Given the description of an element on the screen output the (x, y) to click on. 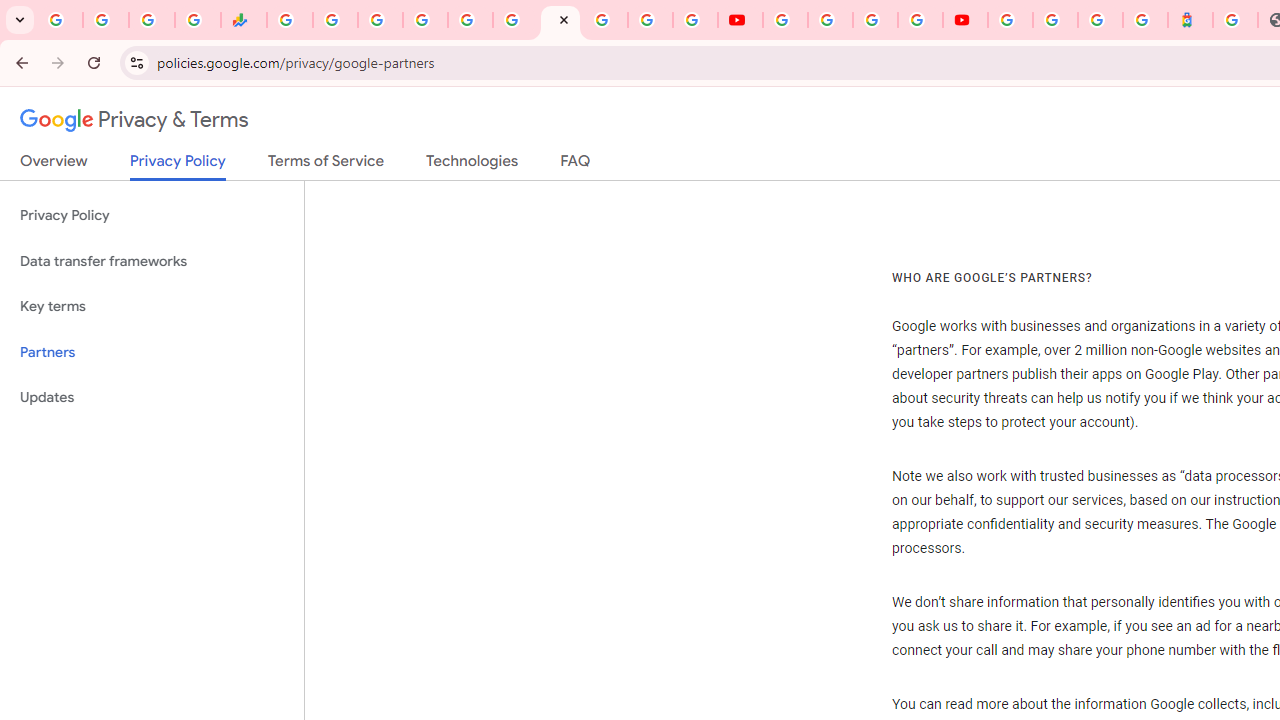
Google Account Help (829, 20)
Atour Hotel - Google hotels (1190, 20)
Content Creator Programs & Opportunities - YouTube Creators (965, 20)
Create your Google Account (875, 20)
Google Workspace Admin Community (60, 20)
